Given the description of an element on the screen output the (x, y) to click on. 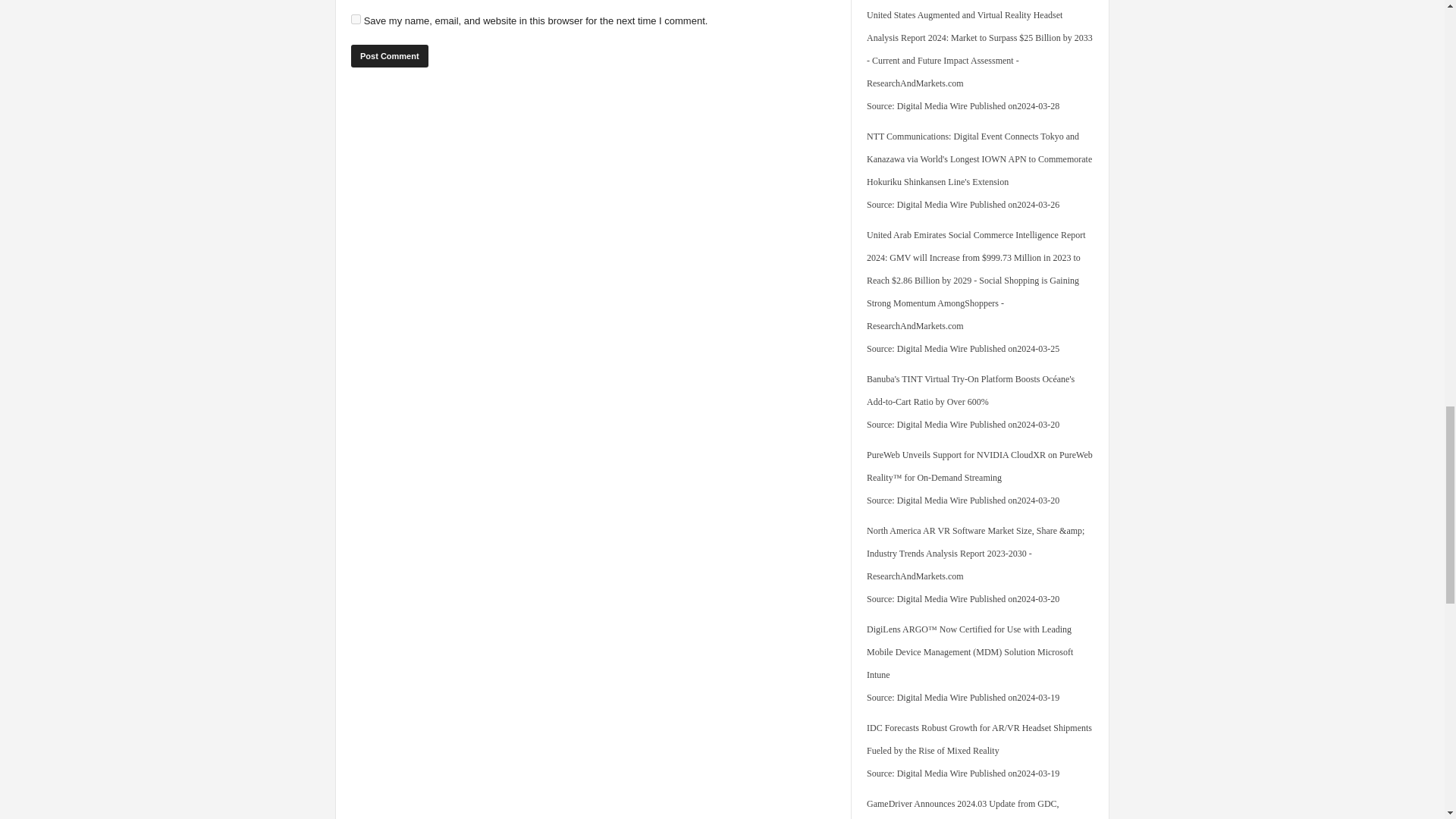
Post Comment (389, 56)
yes (355, 19)
